Given the description of an element on the screen output the (x, y) to click on. 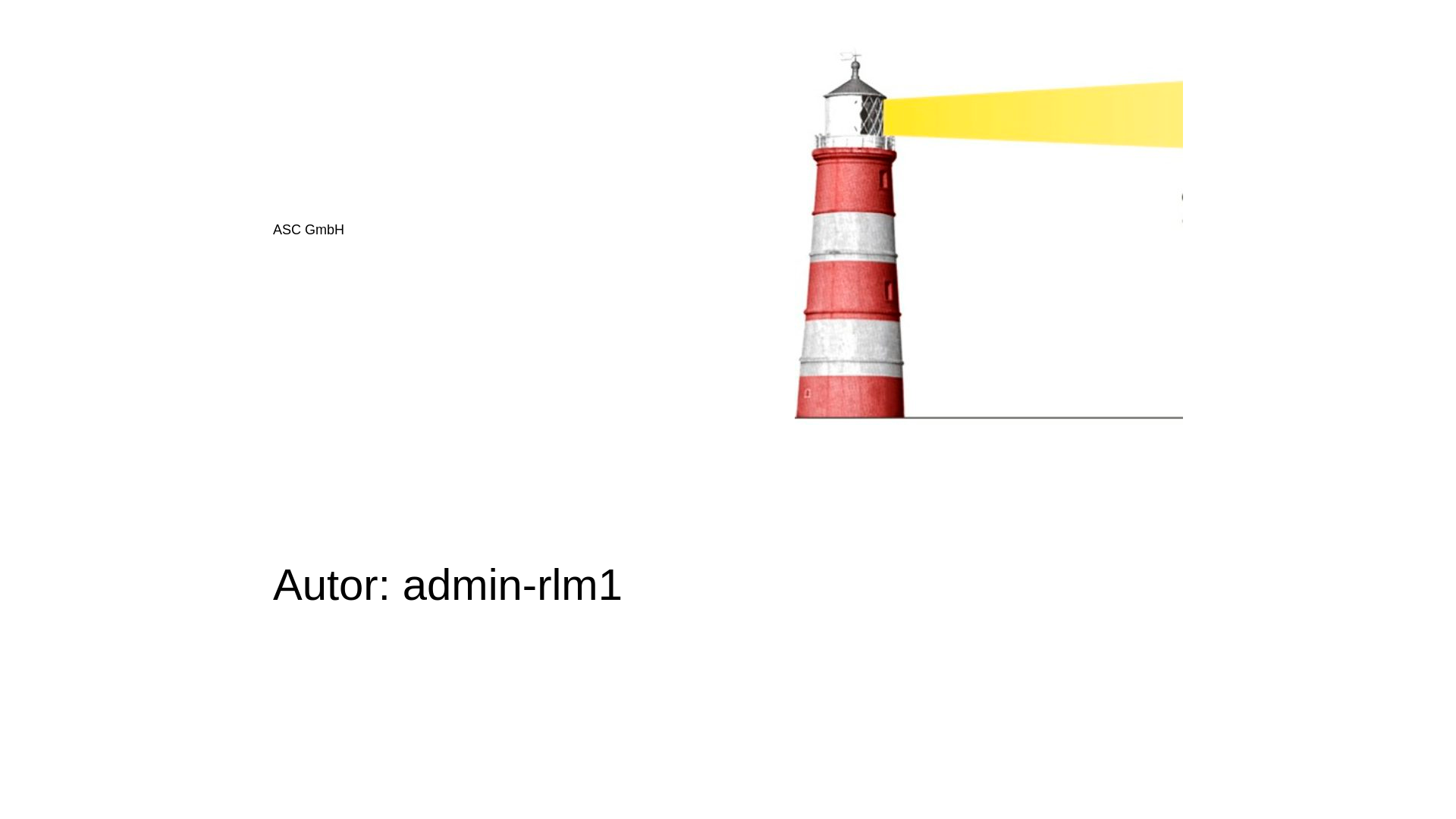
ASC GmbH Element type: text (308, 229)
